Given the description of an element on the screen output the (x, y) to click on. 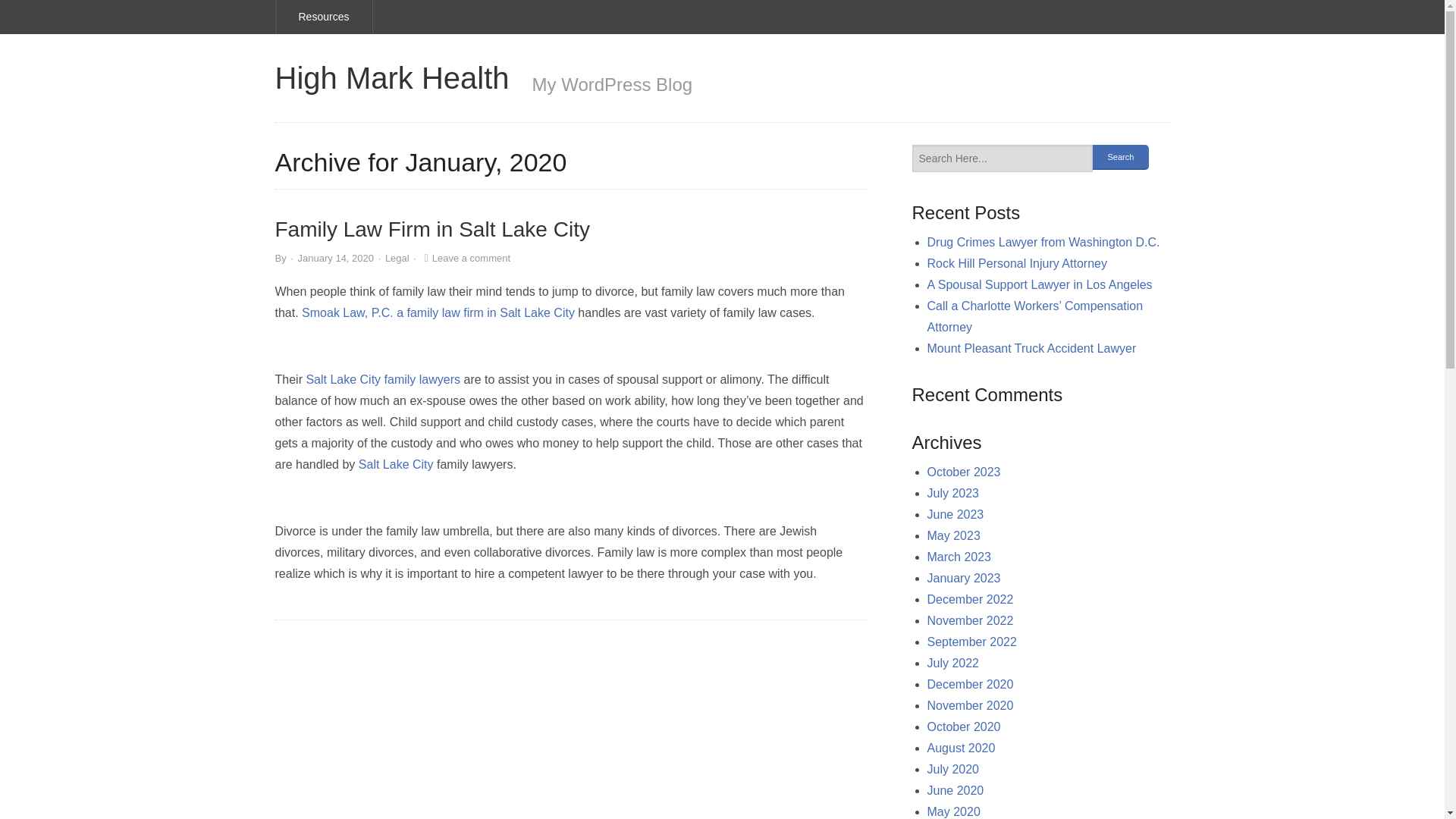
July 2023 (953, 492)
A Spousal Support Lawyer in Los Angeles (1040, 284)
Search Here... (1002, 157)
Legal (397, 257)
October 2023 (964, 472)
Smoak Law, P.C. a family law firm in Salt Lake City (438, 312)
May 2023 (953, 535)
July 2020 (953, 768)
May 2020 (953, 811)
June 2023 (955, 513)
